Given the description of an element on the screen output the (x, y) to click on. 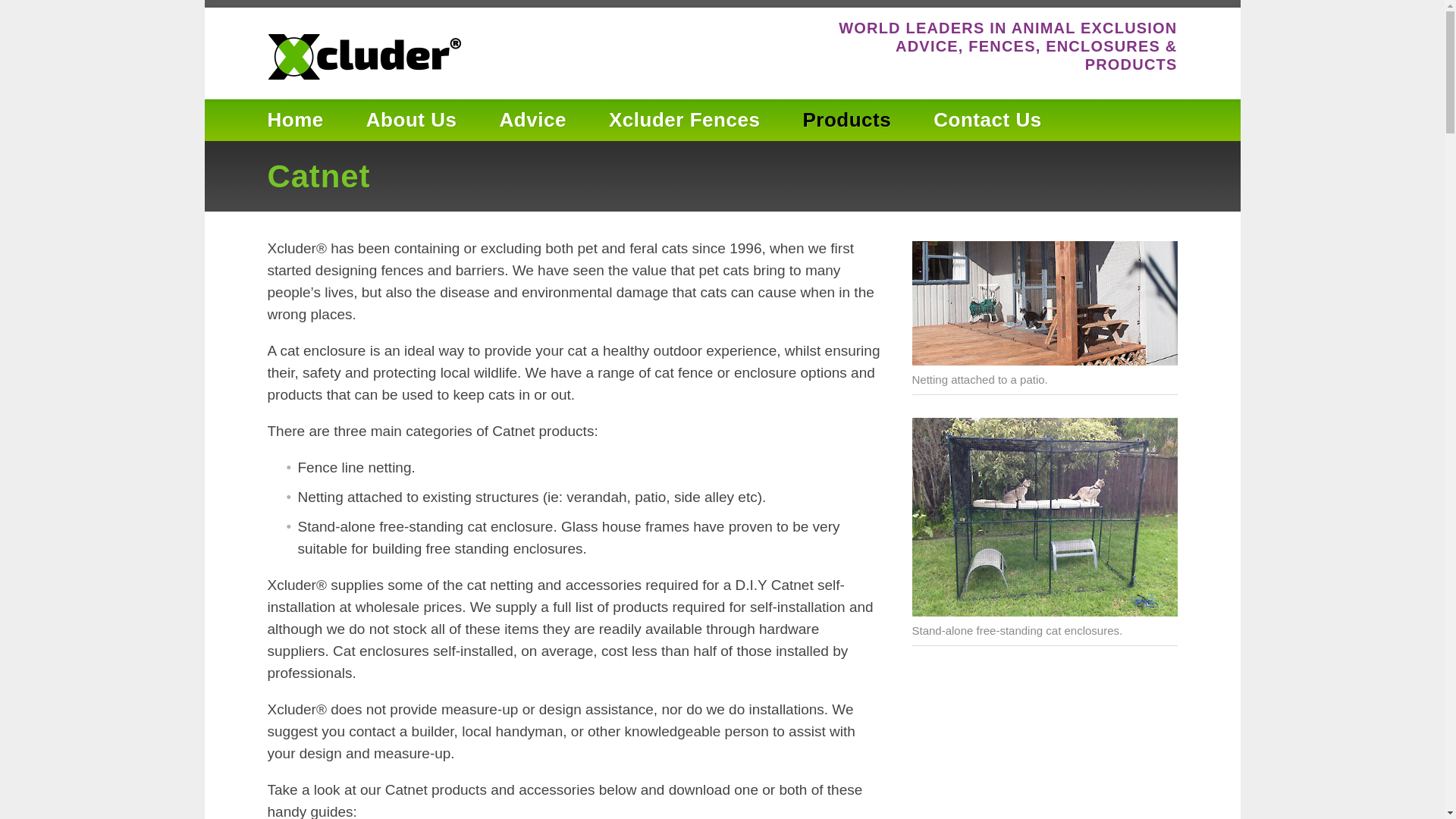
Xcluder Fences (684, 119)
Home (294, 119)
Contact Us (987, 119)
Advice (532, 119)
Products (846, 119)
About Us (411, 119)
